Given the description of an element on the screen output the (x, y) to click on. 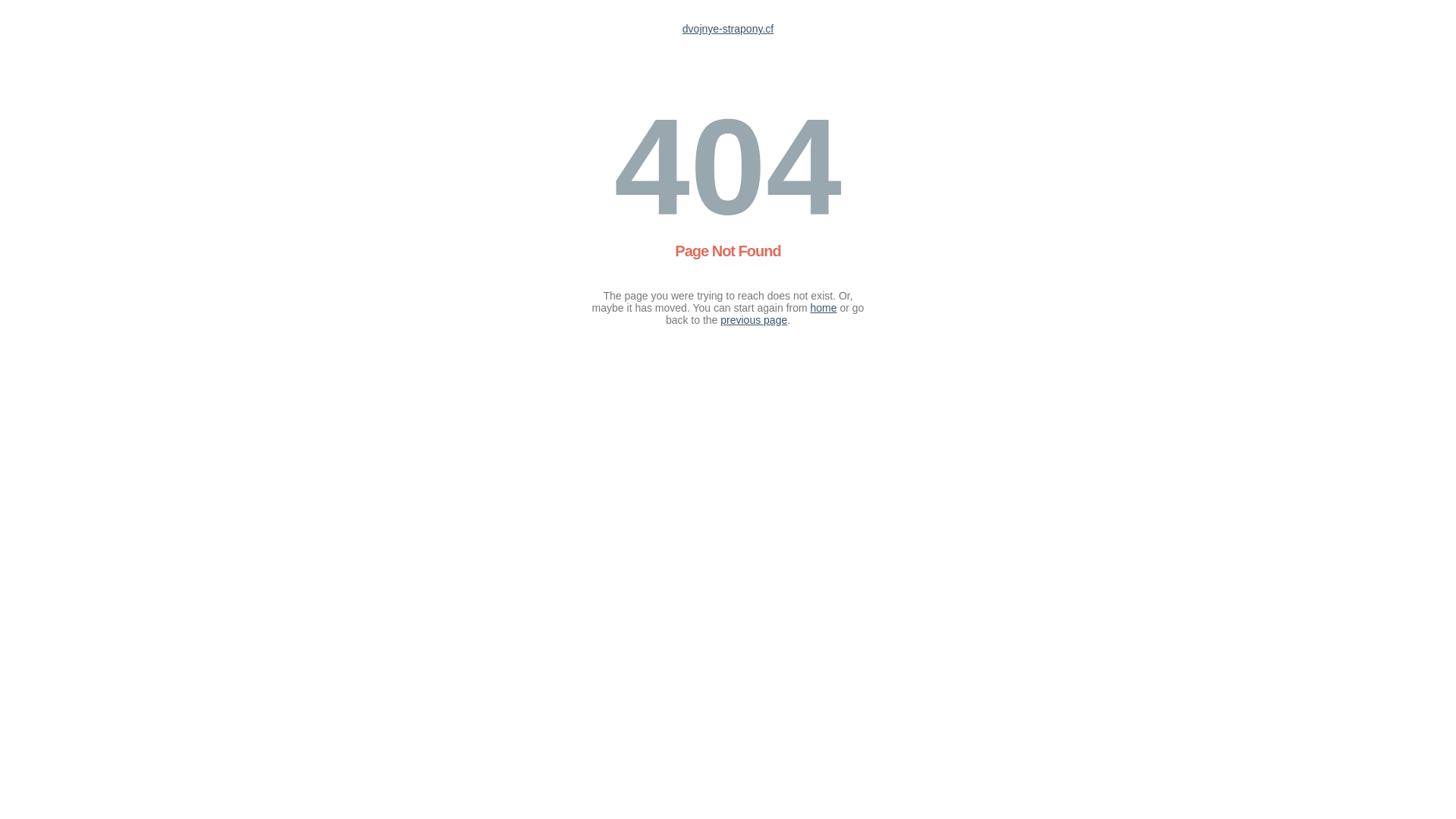
dvojnye-strapony.cf Element type: text (727, 28)
home Element type: text (823, 307)
previous page Element type: text (753, 319)
